Given the description of an element on the screen output the (x, y) to click on. 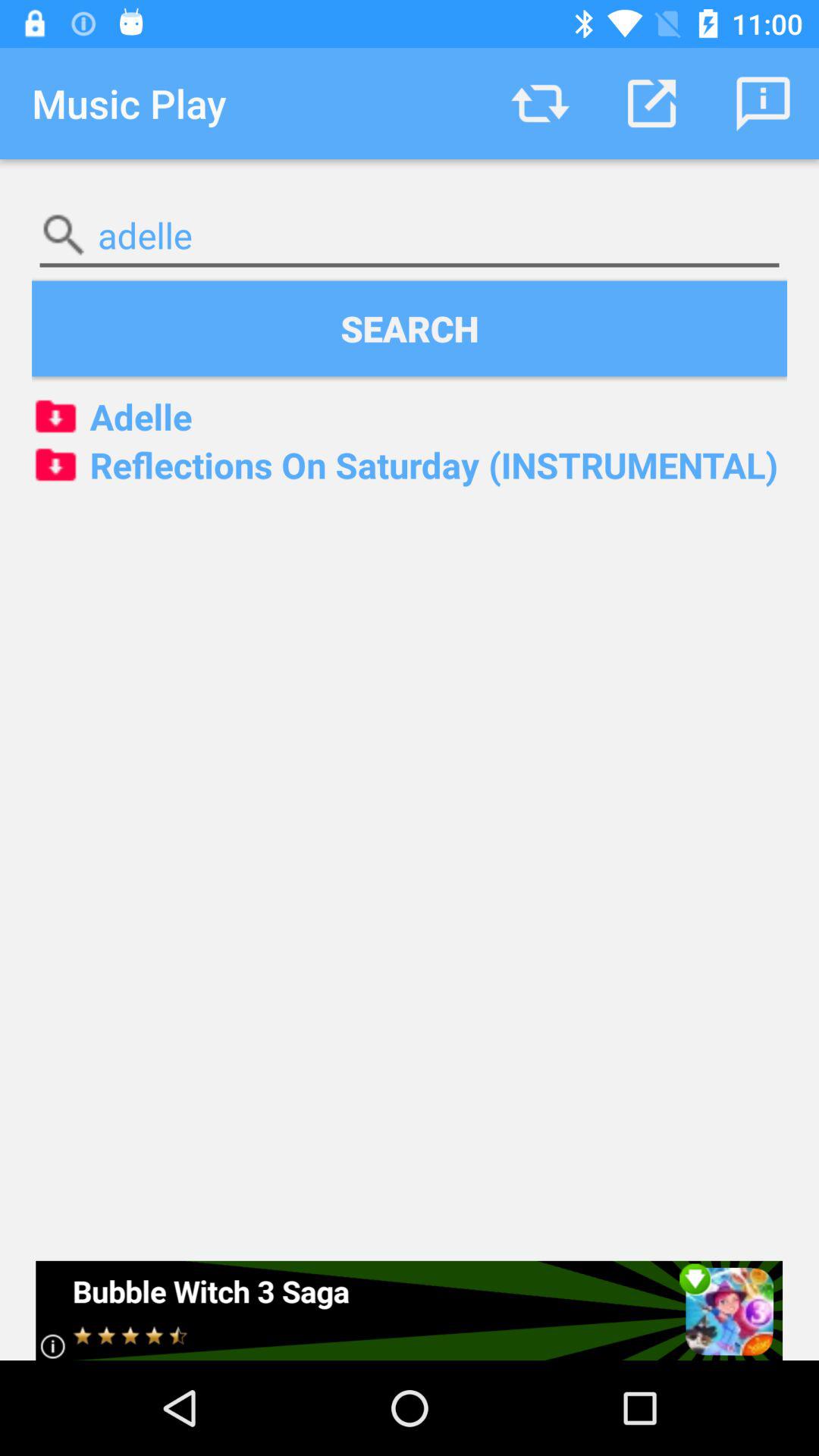
turn on item above adelle icon (409, 328)
